Given the description of an element on the screen output the (x, y) to click on. 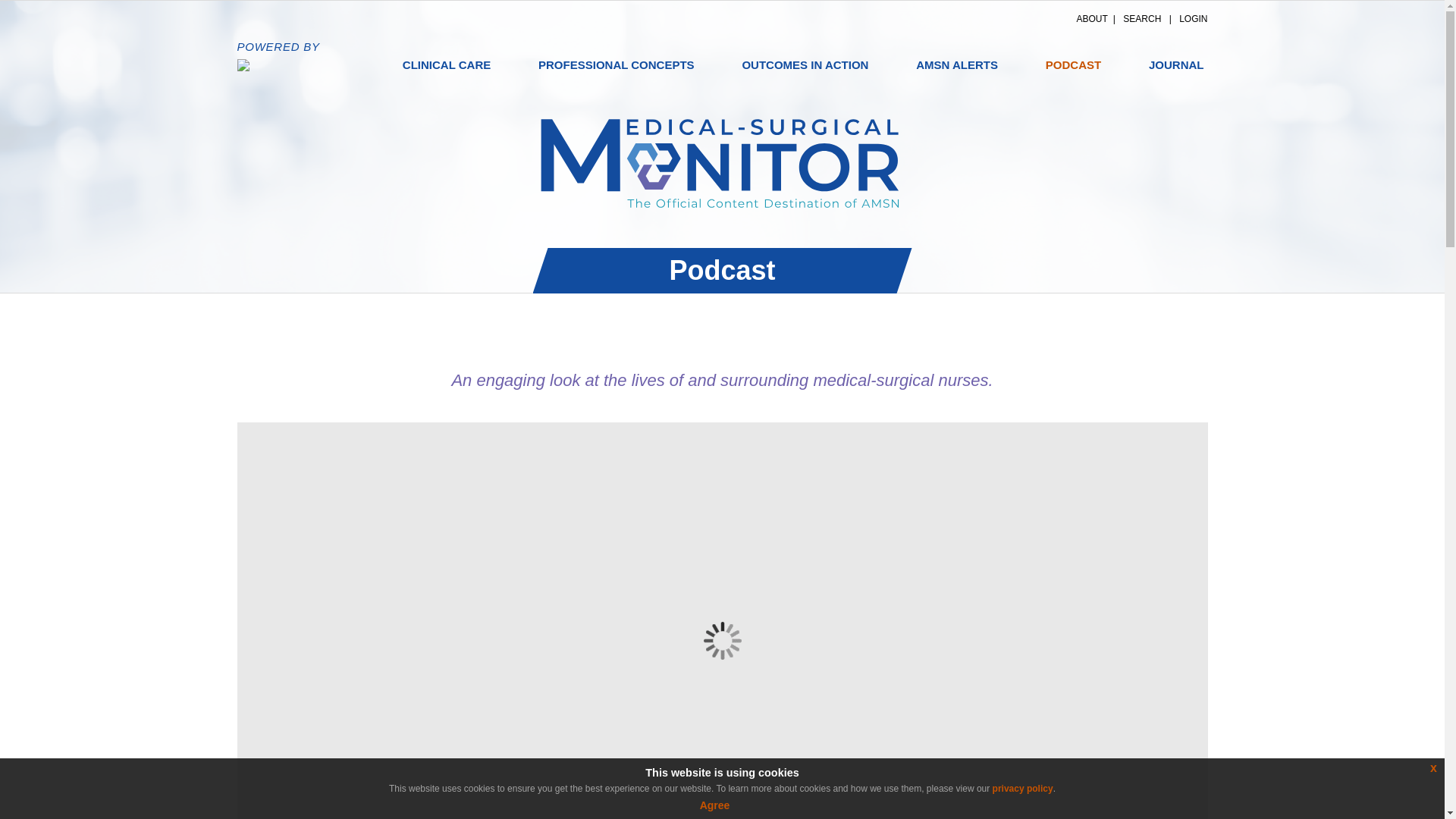
PROFESSIONAL CONCEPTS (616, 64)
JOURNAL (1176, 64)
ABOUT (1092, 18)
AMSN ALERTS (956, 64)
Podcast (1073, 64)
Journal (1176, 64)
PODCAST (1073, 64)
CLINICAL CARE (446, 64)
AMSN Alerts (956, 64)
SEARCH (1141, 18)
Outcomes in Action (805, 64)
OUTCOMES IN ACTION (805, 64)
Clinical Care (446, 64)
Professional Concepts (616, 64)
LOGIN (1193, 18)
